Given the description of an element on the screen output the (x, y) to click on. 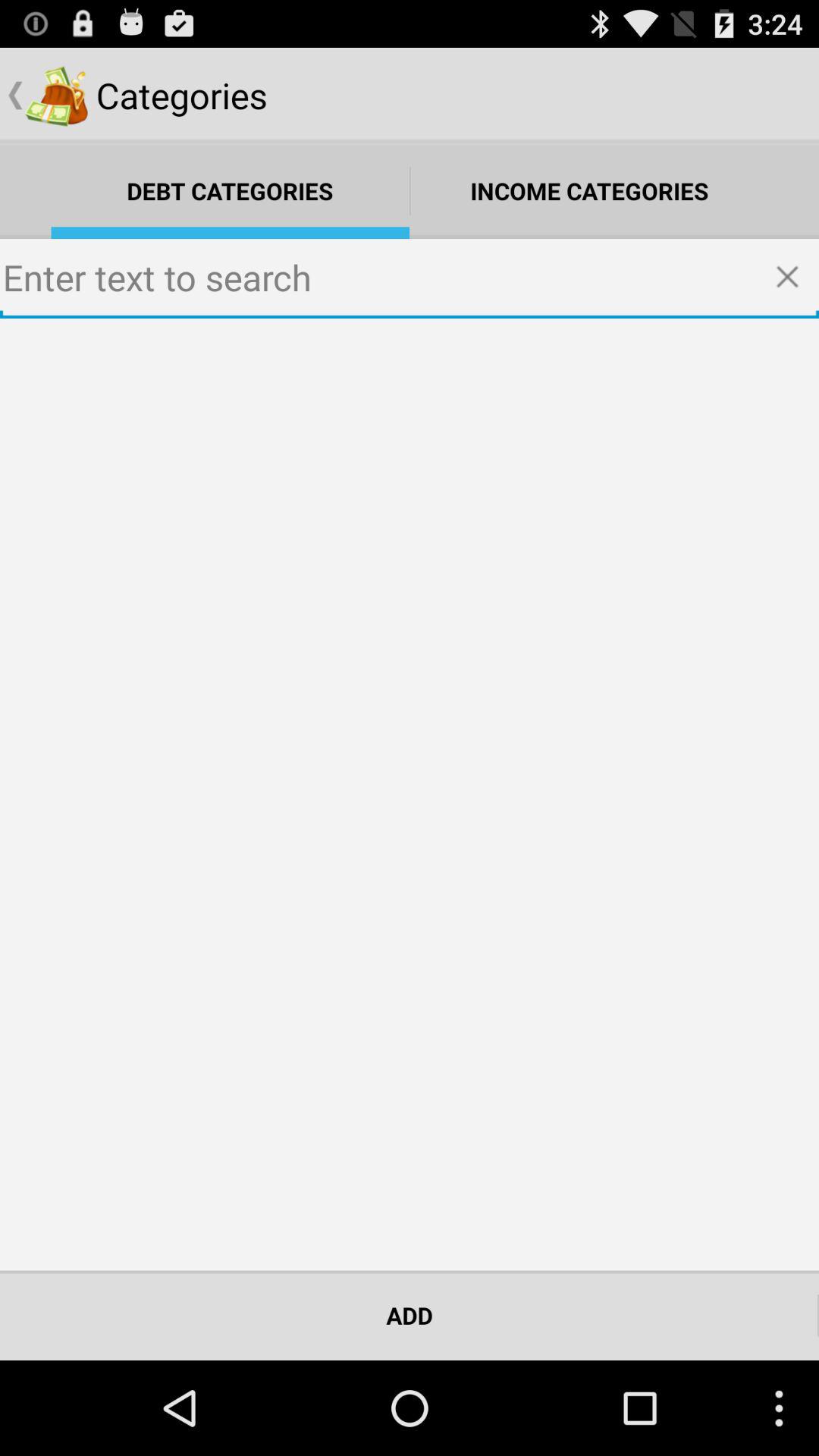
search engine (409, 278)
